Given the description of an element on the screen output the (x, y) to click on. 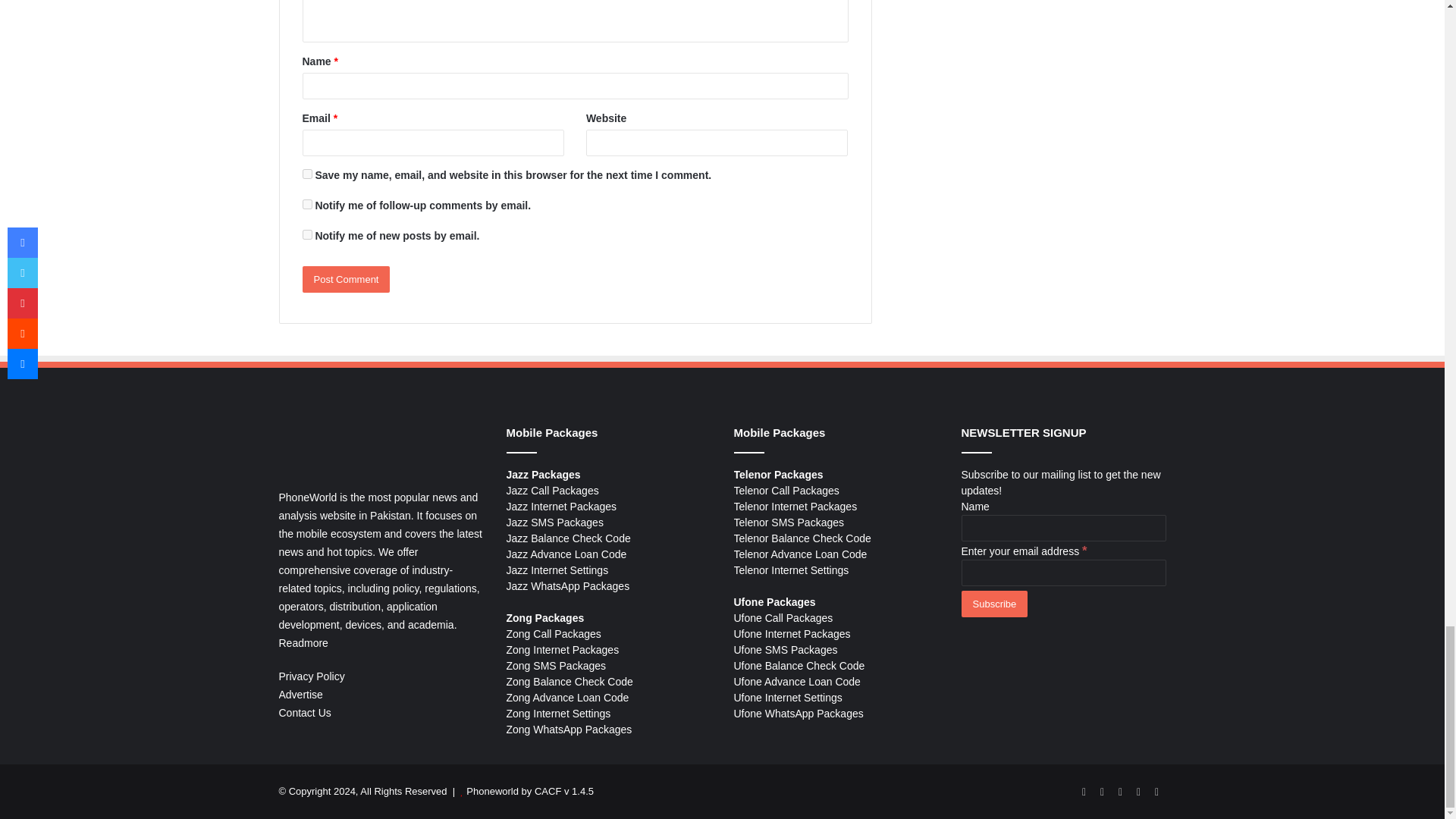
subscribe (306, 234)
Post Comment (345, 279)
yes (306, 173)
Subscribe (993, 603)
subscribe (306, 204)
